Given the description of an element on the screen output the (x, y) to click on. 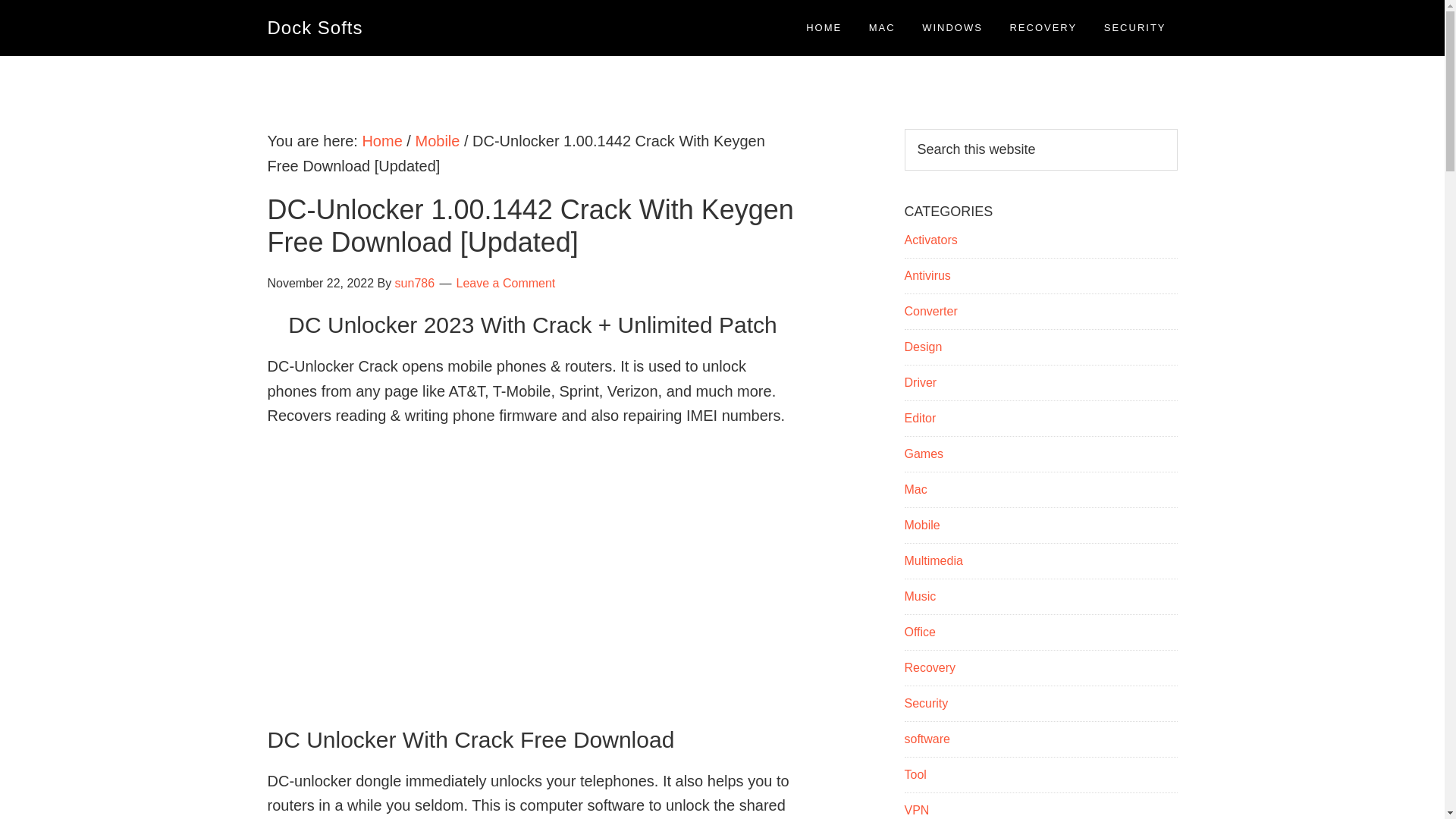
Converter (930, 310)
sun786 (414, 282)
WINDOWS (952, 27)
Security (925, 703)
Music (920, 595)
software (926, 738)
SECURITY (1135, 27)
Editor (920, 418)
Mobile (921, 524)
